Given the description of an element on the screen output the (x, y) to click on. 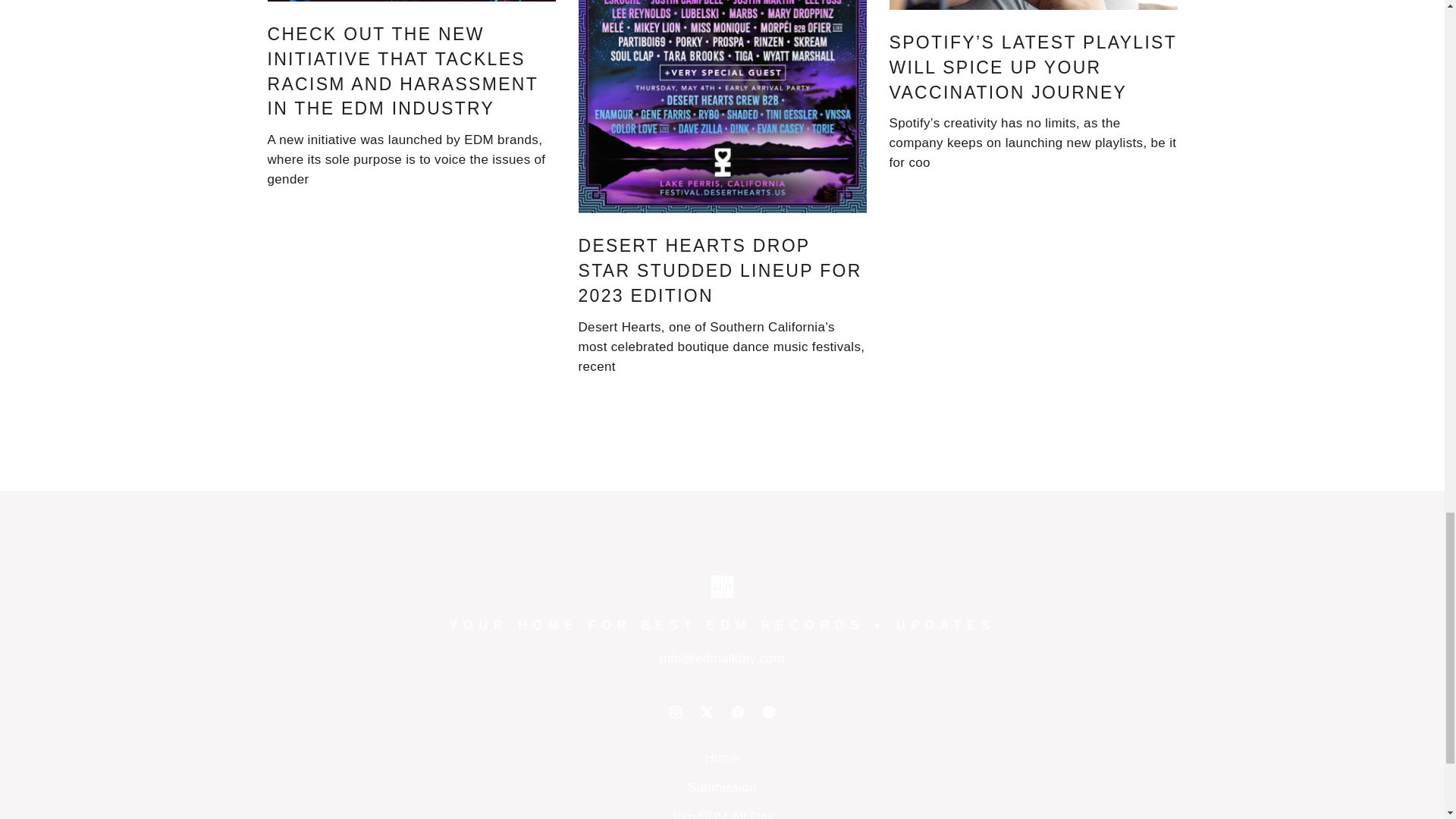
Submission (722, 787)
Home (721, 757)
Join EDM All Day (721, 814)
DESERT HEARTS DROP STAR STUDDED LINEUP FOR 2023 EDITION (719, 270)
